Given the description of an element on the screen output the (x, y) to click on. 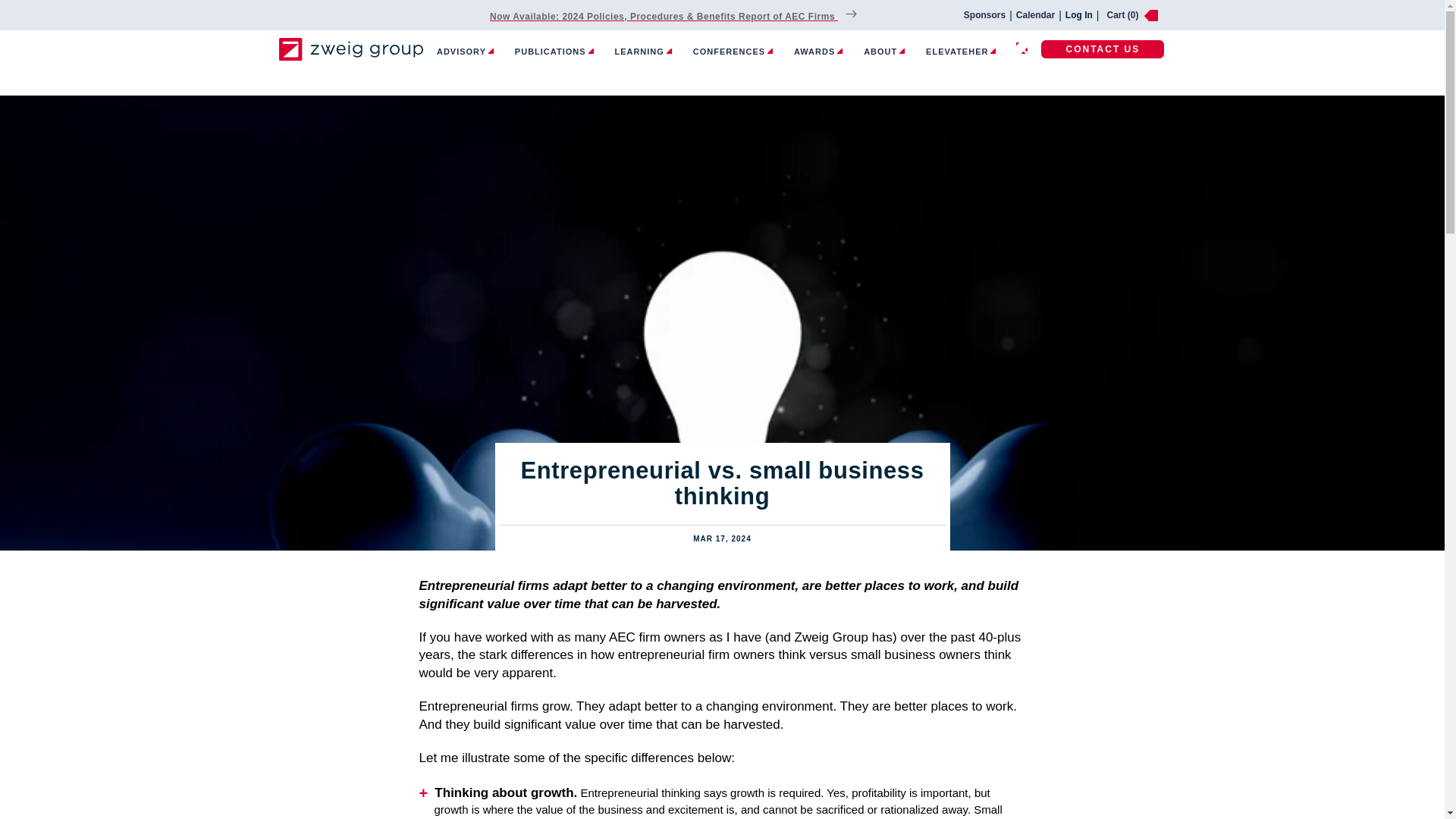
Log In (1079, 14)
Sponsors (984, 14)
Calendar (1035, 14)
